Given the description of an element on the screen output the (x, y) to click on. 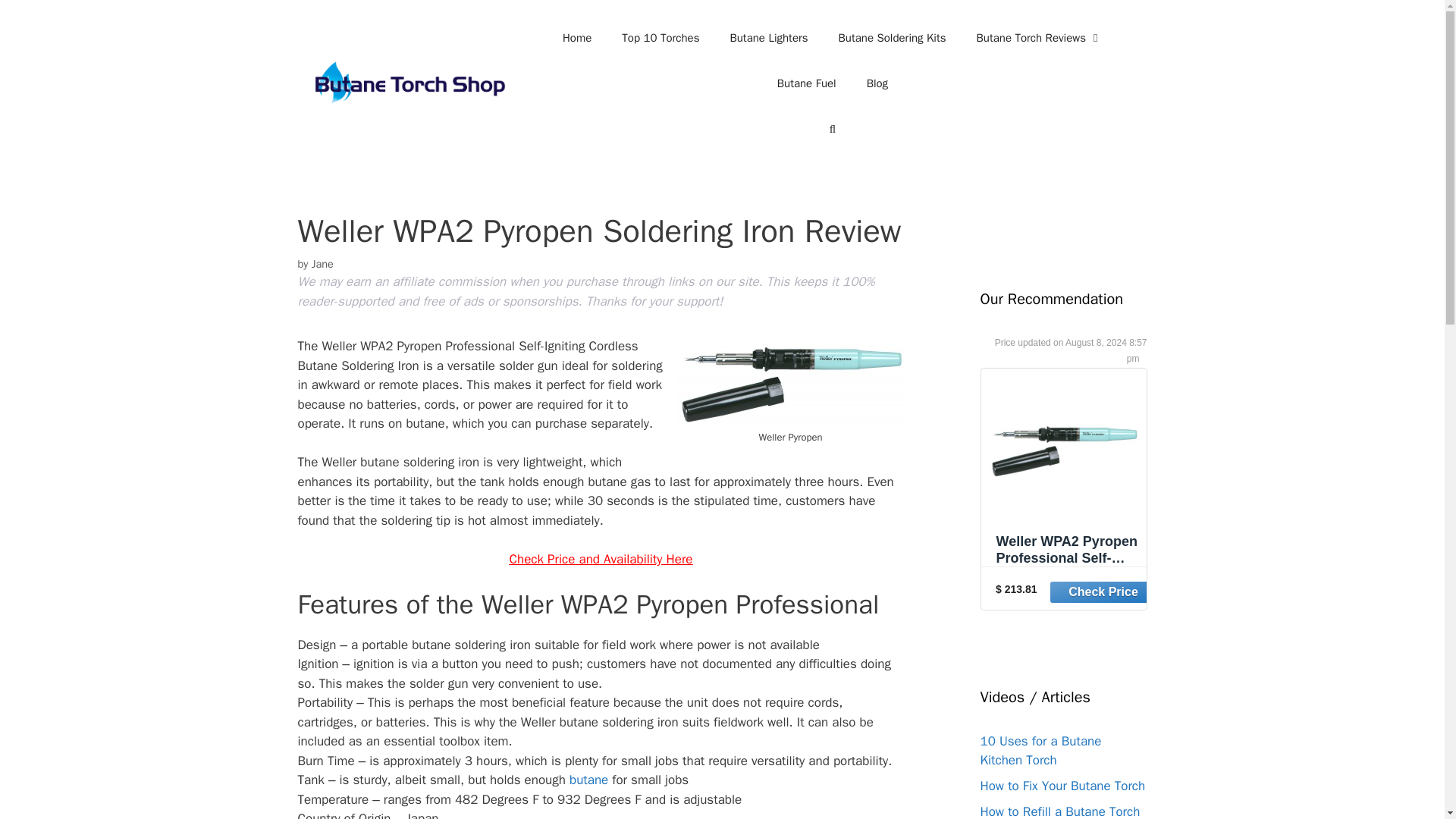
Blog (876, 83)
Butane Torch Reviews (1039, 37)
View all posts by Jane (322, 264)
Weller WPA2 Pyropen Soldering Iron Review 1 (790, 384)
Butane Lighters (768, 37)
Top 10 Torches (660, 37)
Butane Fuel (806, 83)
Butane Soldering Kits (892, 37)
Home (577, 37)
